Given the description of an element on the screen output the (x, y) to click on. 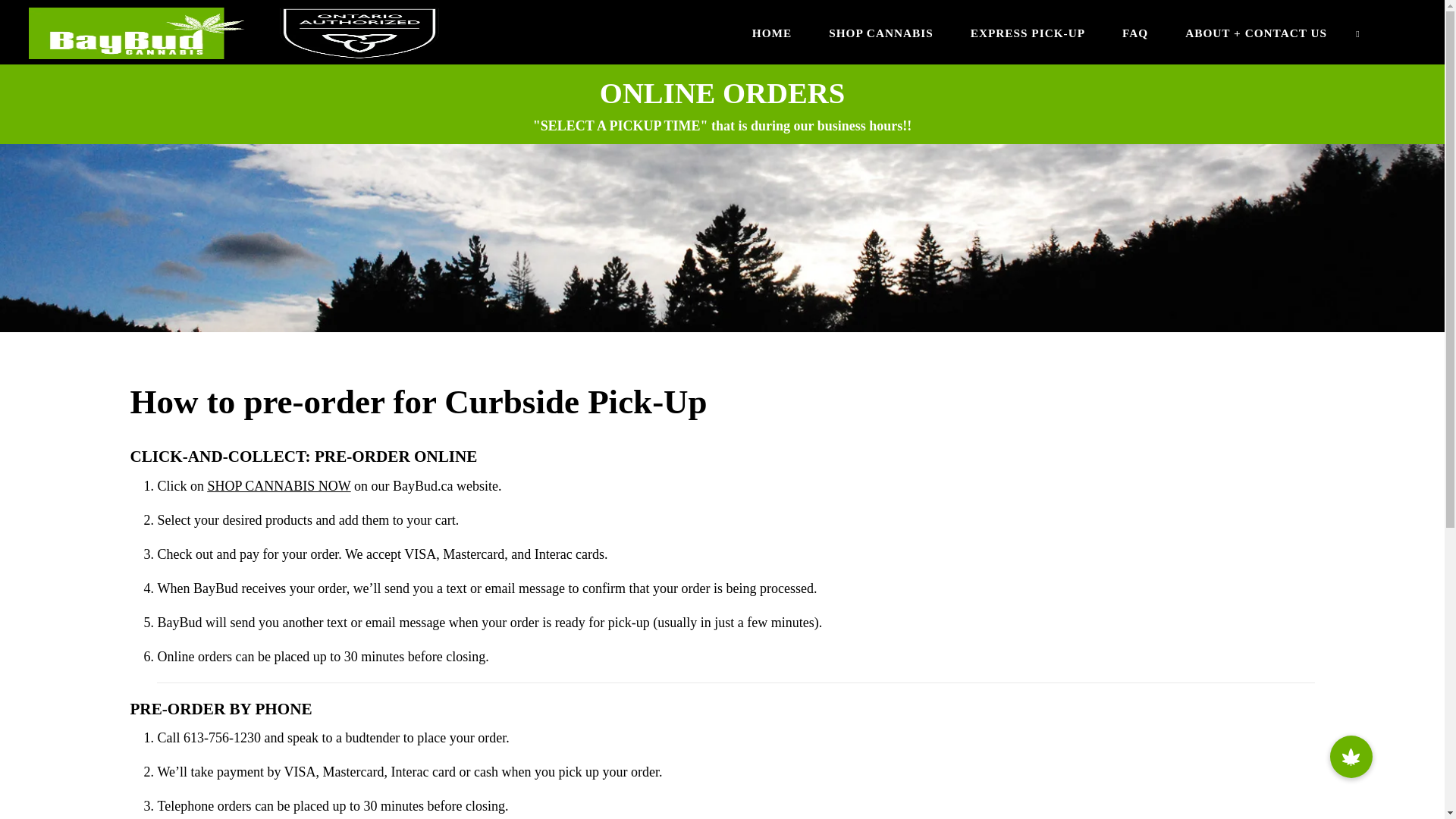
FAQ Element type: text (1135, 32)
SEARCH Element type: text (1358, 32)
SHOP CANNABIS NOW Element type: text (278, 485)
SHOP CANNABIS Element type: text (880, 32)
BayBud Cannabis Element type: hover (233, 31)
EXPRESS PICK-UP Element type: text (1027, 32)
HOME Element type: text (771, 32)
ABOUT + CONTACT US Element type: text (1256, 32)
